Given the description of an element on the screen output the (x, y) to click on. 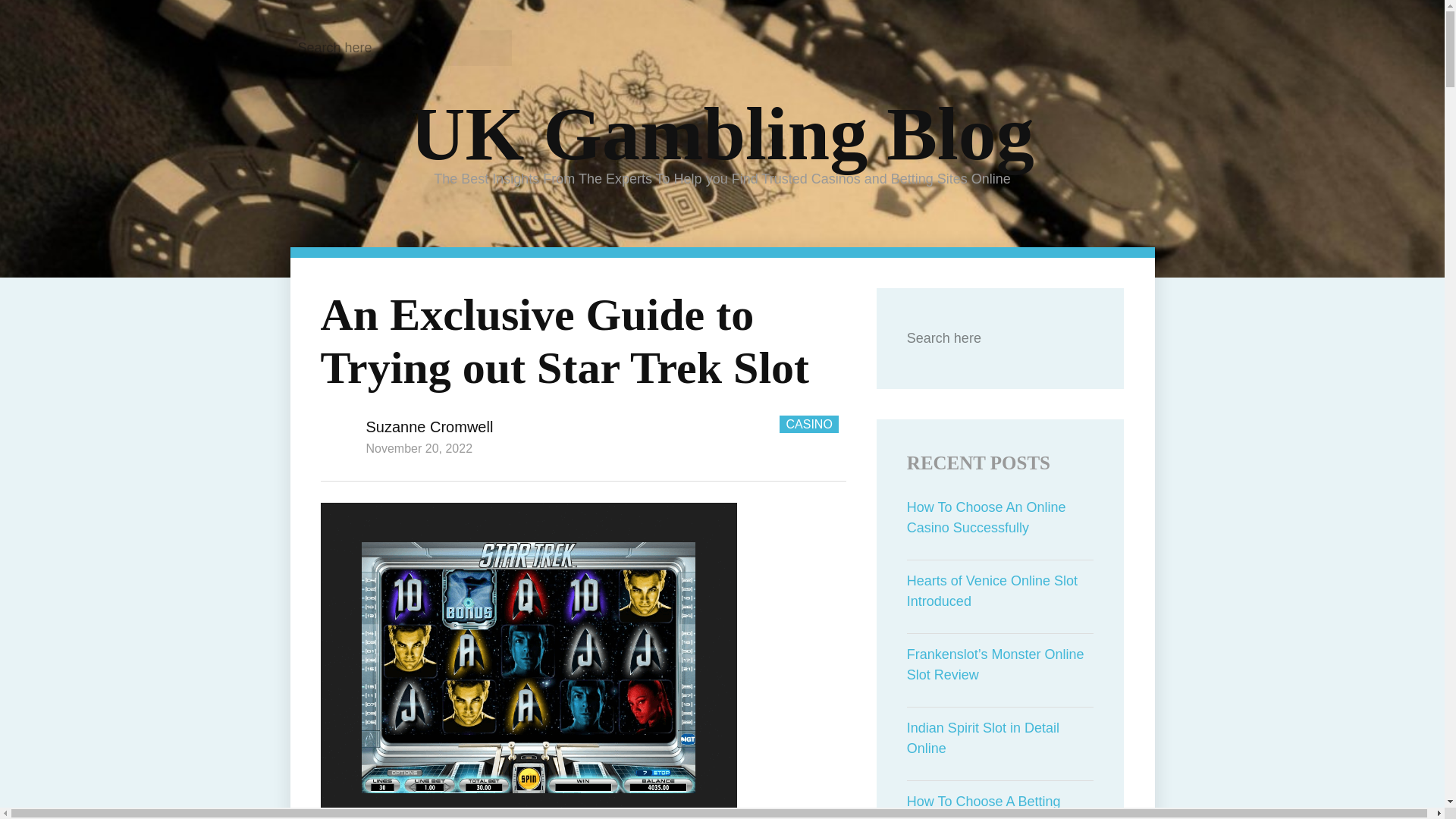
Search (489, 47)
UK Gambling Blog (721, 133)
Suzanne Cromwell (429, 426)
CASINO (808, 424)
November 20, 2022 (418, 448)
An Exclusive Guide to Trying out Star Trek Slot (564, 341)
